Given the description of an element on the screen output the (x, y) to click on. 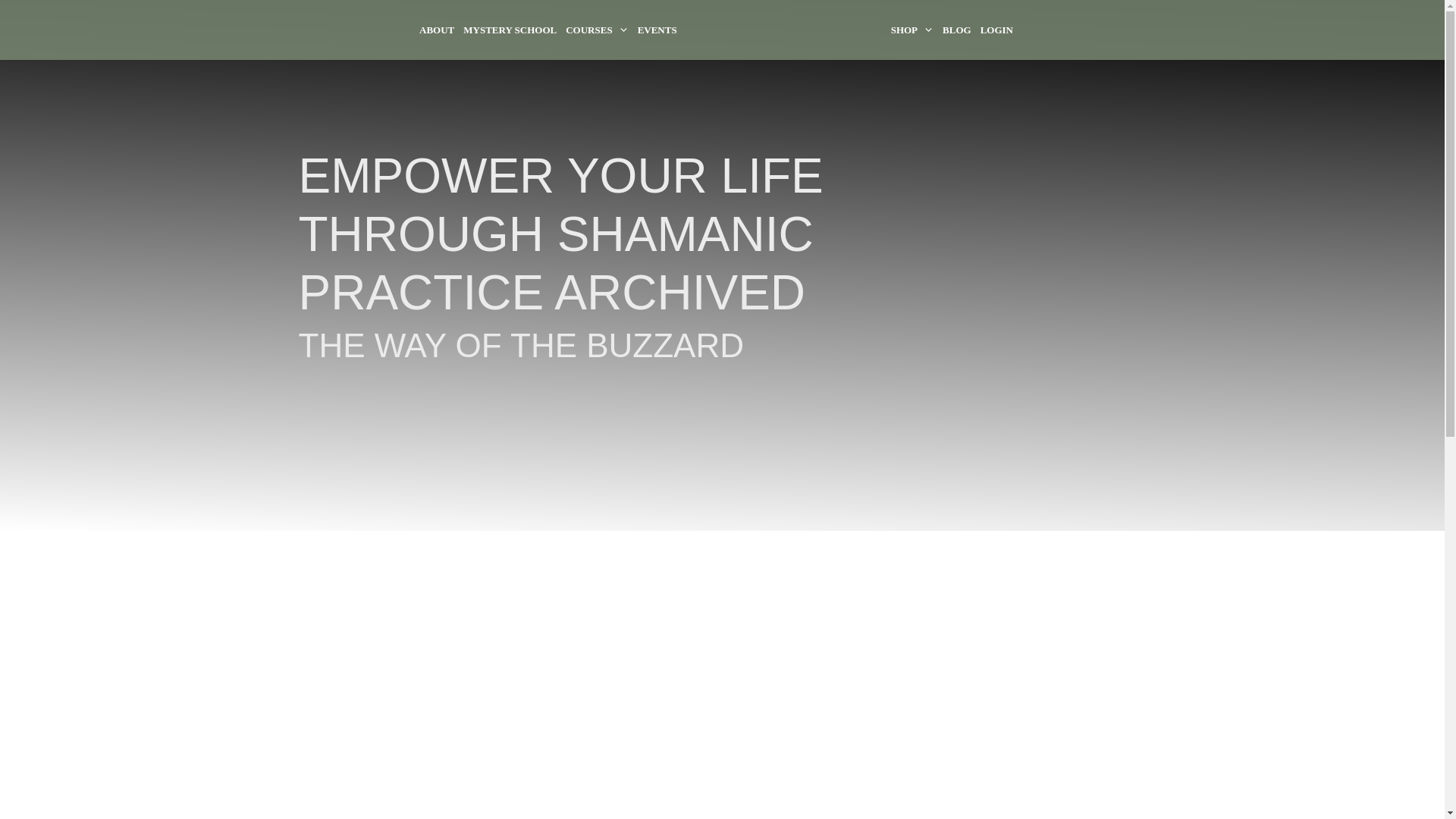
SHOP (912, 30)
COURSES (596, 30)
LOGIN (996, 30)
ABOUT (436, 30)
EVENTS (657, 30)
MYSTERY SCHOOL (509, 30)
BLOG (956, 30)
